Given the description of an element on the screen output the (x, y) to click on. 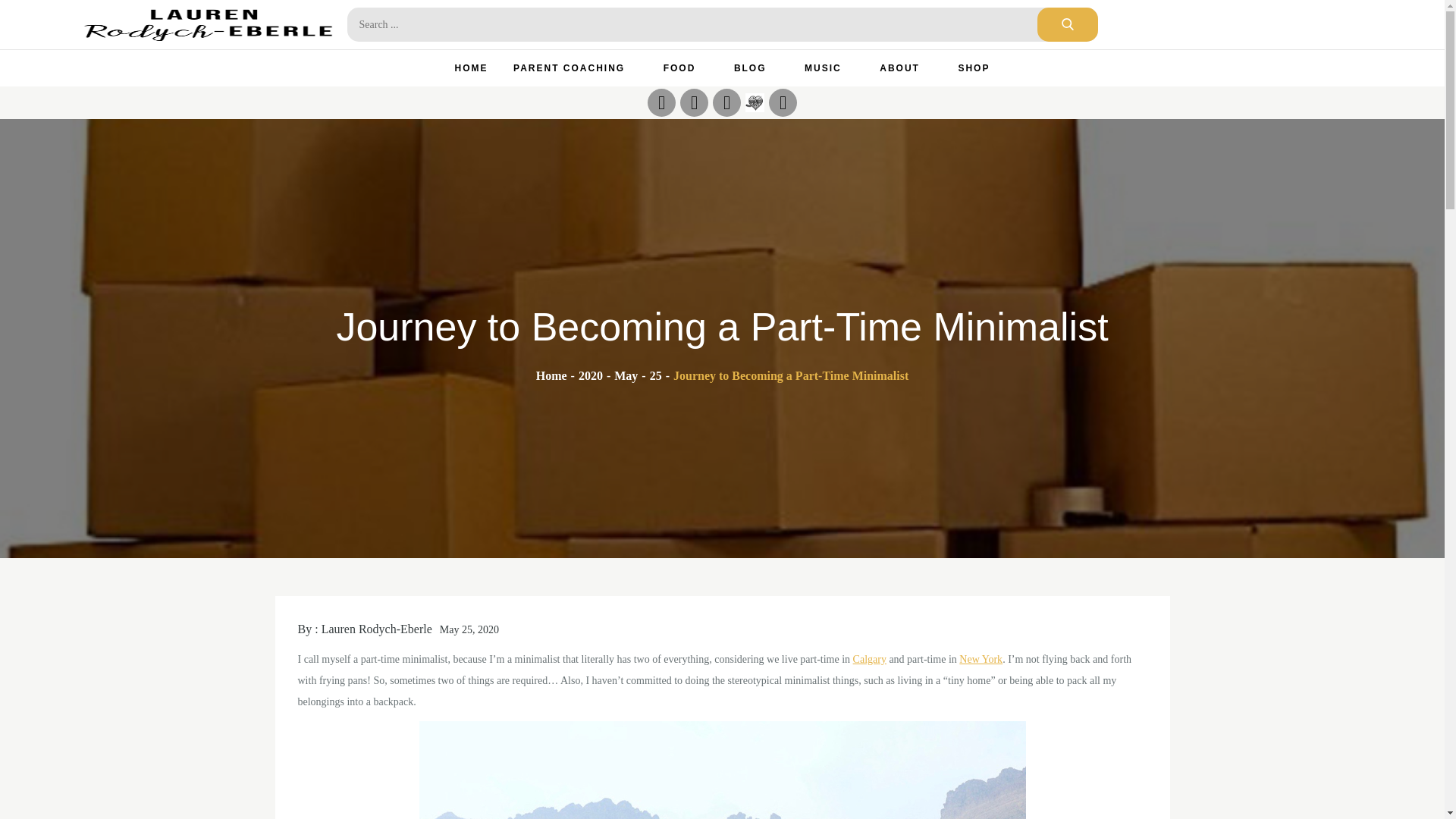
Sticks and Strings (754, 102)
BLOG (756, 67)
PARENT COACHING (575, 67)
2020 (590, 375)
MUSIC (829, 67)
Pinterest (693, 102)
Search (1066, 24)
SHOP (973, 67)
YouTube (727, 102)
Podcast (782, 102)
HOME (471, 67)
FOOD (686, 67)
Home (551, 375)
Sticks and Strings (754, 101)
Instagram (661, 102)
